Given the description of an element on the screen output the (x, y) to click on. 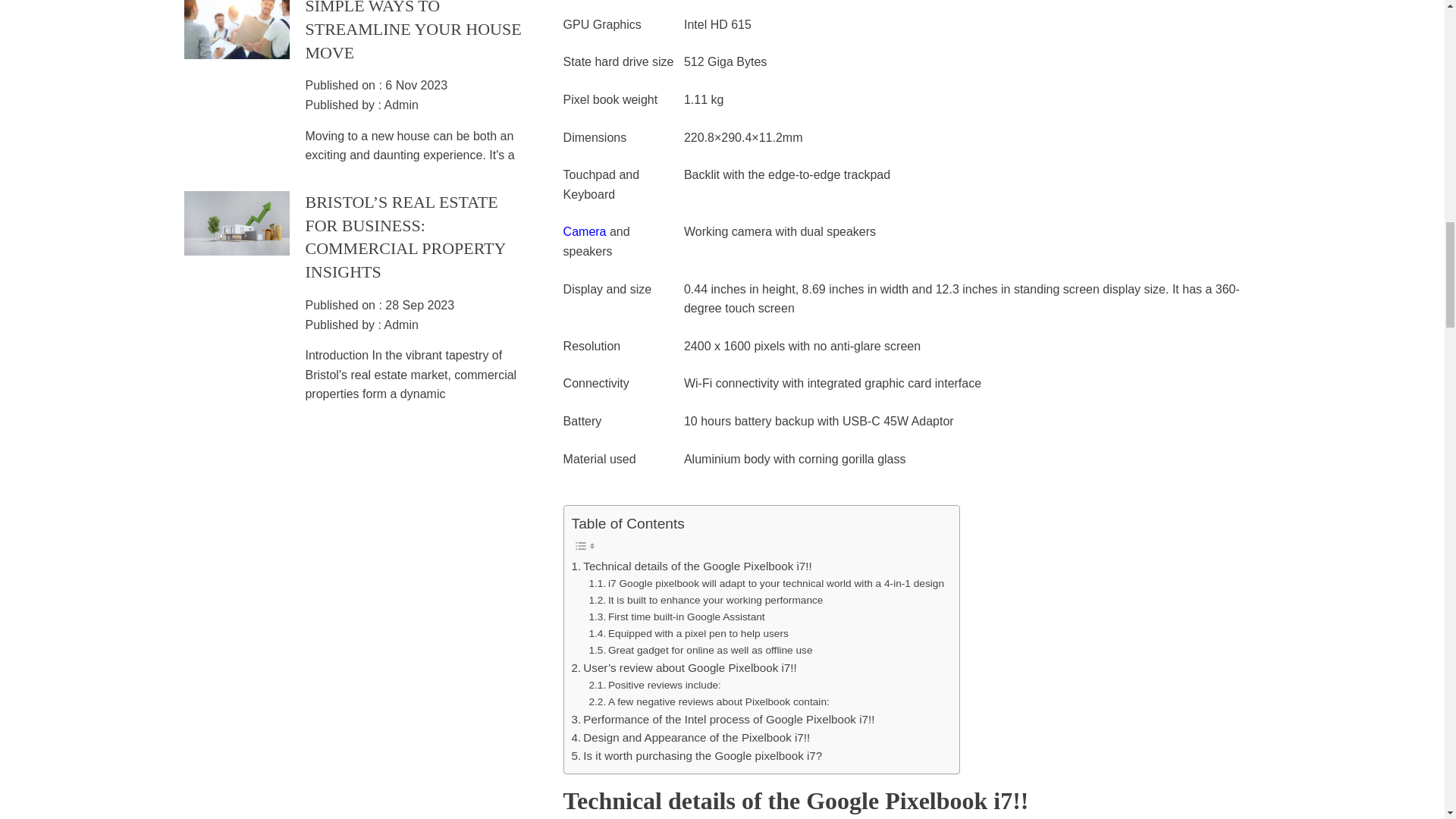
Technical details of the Google Pixelbook i7!! (692, 566)
Positive reviews include: (654, 685)
Equipped with a pixel pen to help users (687, 633)
Design and Appearance of the Pixelbook i7!! (691, 737)
It is built to enhance your working performance (705, 600)
Is it worth purchasing the Google pixelbook i7? (697, 755)
Great gadget for online as well as offline use (700, 650)
Great gadget for online as well as offline use (700, 650)
Technical details of the Google Pixelbook i7!! (692, 566)
Performance of the Intel process of Google Pixelbook i7!! (723, 719)
A few negative reviews about Pixelbook contain: (708, 701)
First time built-in Google Assistant  (677, 617)
It is built to enhance your working performance (705, 600)
